Given the description of an element on the screen output the (x, y) to click on. 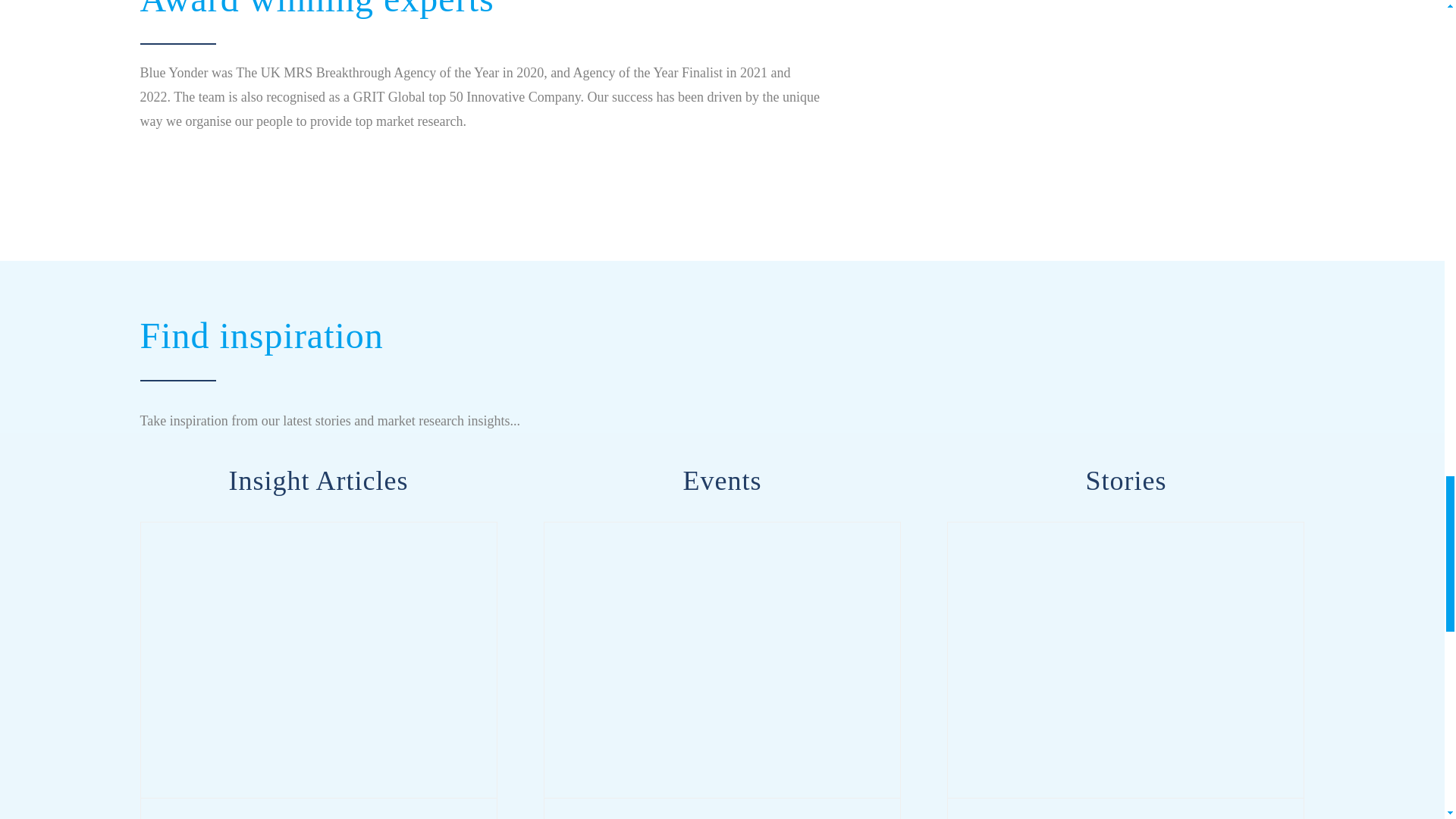
GRIT logo (980, 217)
Events (721, 481)
MRS finalist (1075, 94)
Insight (318, 481)
Case Studies (1125, 481)
